Given the description of an element on the screen output the (x, y) to click on. 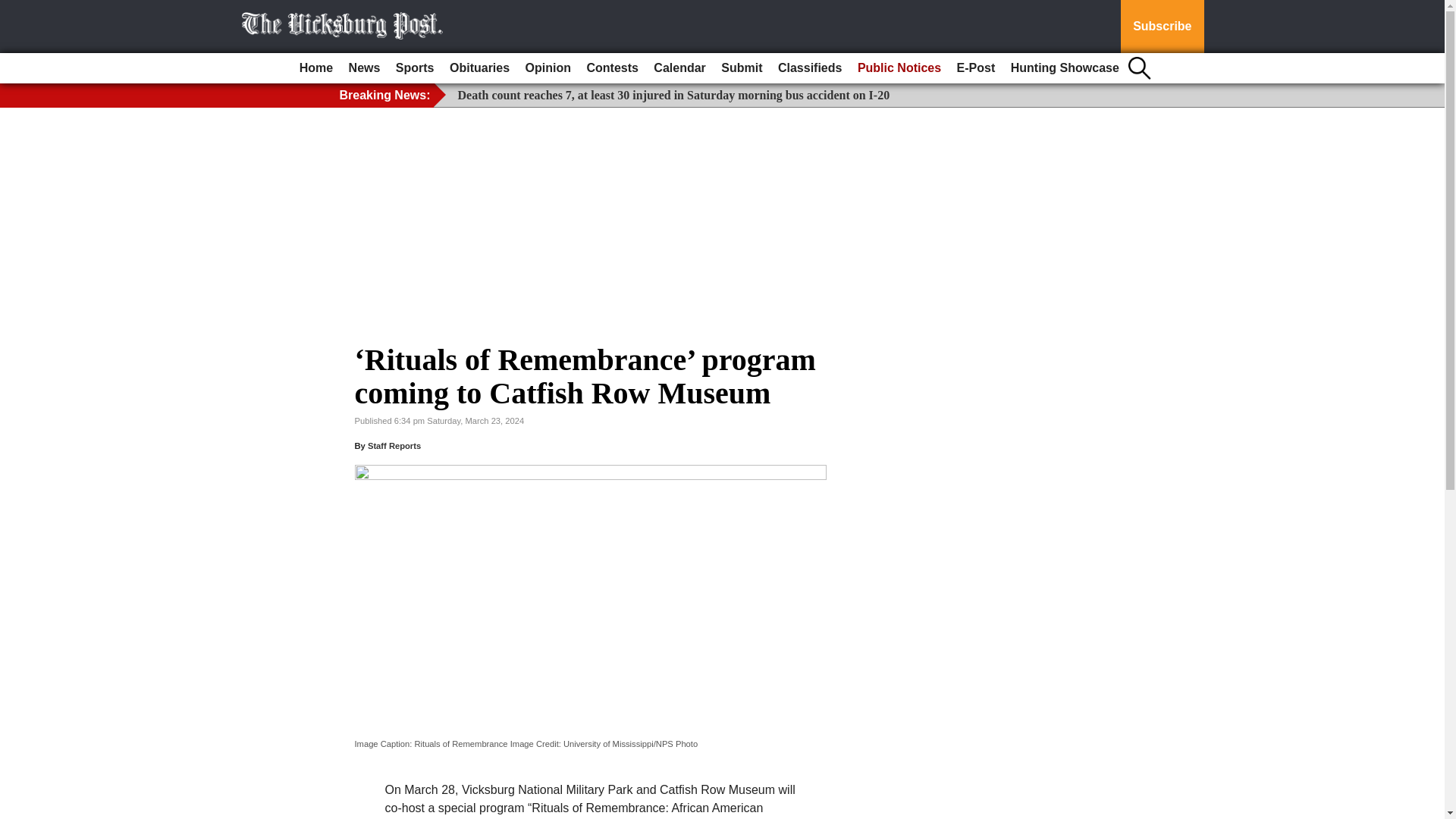
Submit (741, 68)
Obituaries (479, 68)
Contests (611, 68)
Staff Reports (394, 445)
Go (13, 9)
Classifieds (809, 68)
Public Notices (899, 68)
Opinion (547, 68)
Calendar (679, 68)
